Given the description of an element on the screen output the (x, y) to click on. 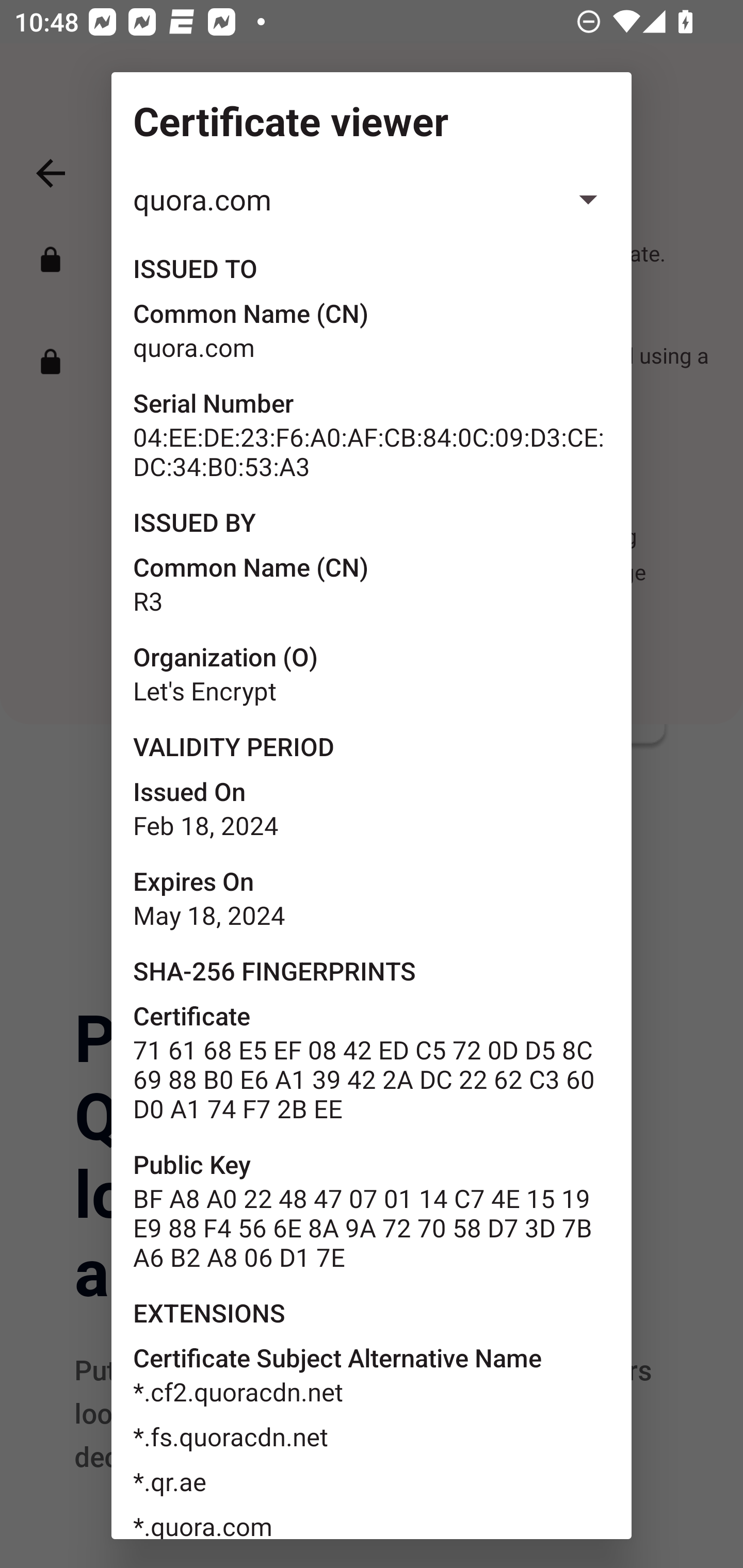
quora.com (371, 198)
